Given the description of an element on the screen output the (x, y) to click on. 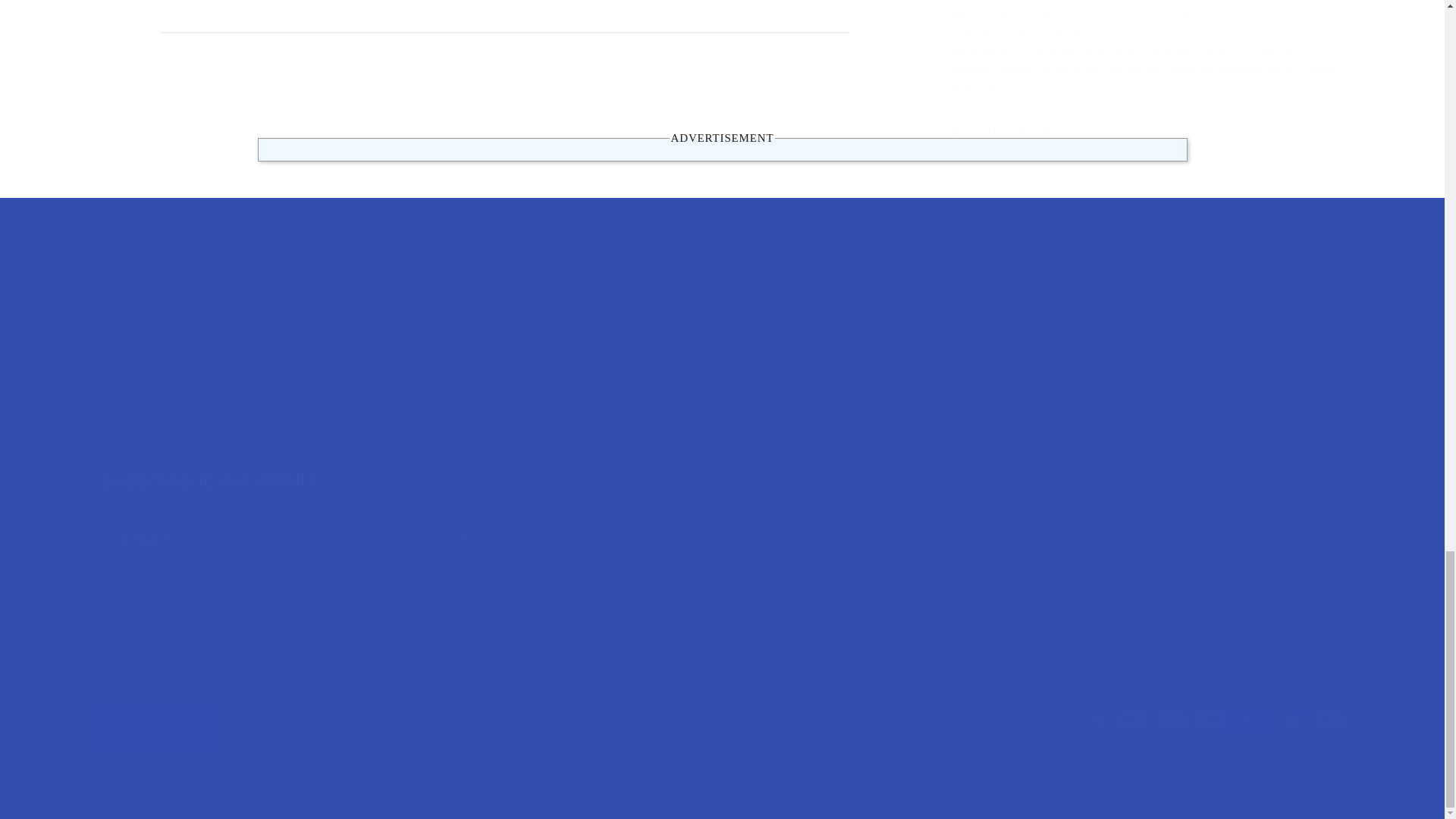
Contact Us (954, 354)
Contact Us (721, 362)
